Given the description of an element on the screen output the (x, y) to click on. 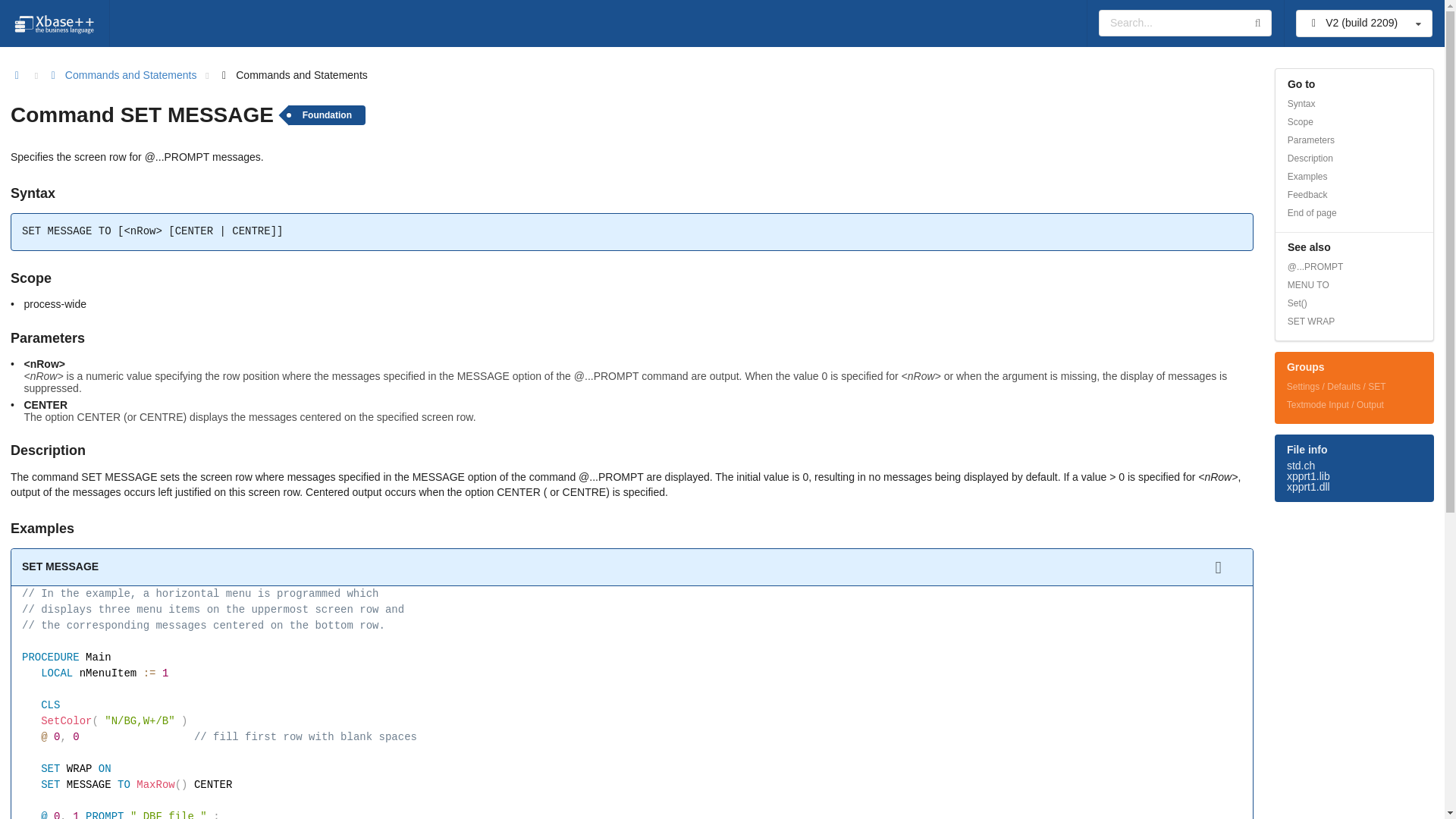
Commands and Statements (121, 75)
End of page (1353, 212)
Syntax (1353, 104)
Description (1353, 158)
Foundation (326, 115)
Scope (1353, 122)
Examples (1353, 176)
Parameters (1353, 140)
Feedback (1353, 194)
